Given the description of an element on the screen output the (x, y) to click on. 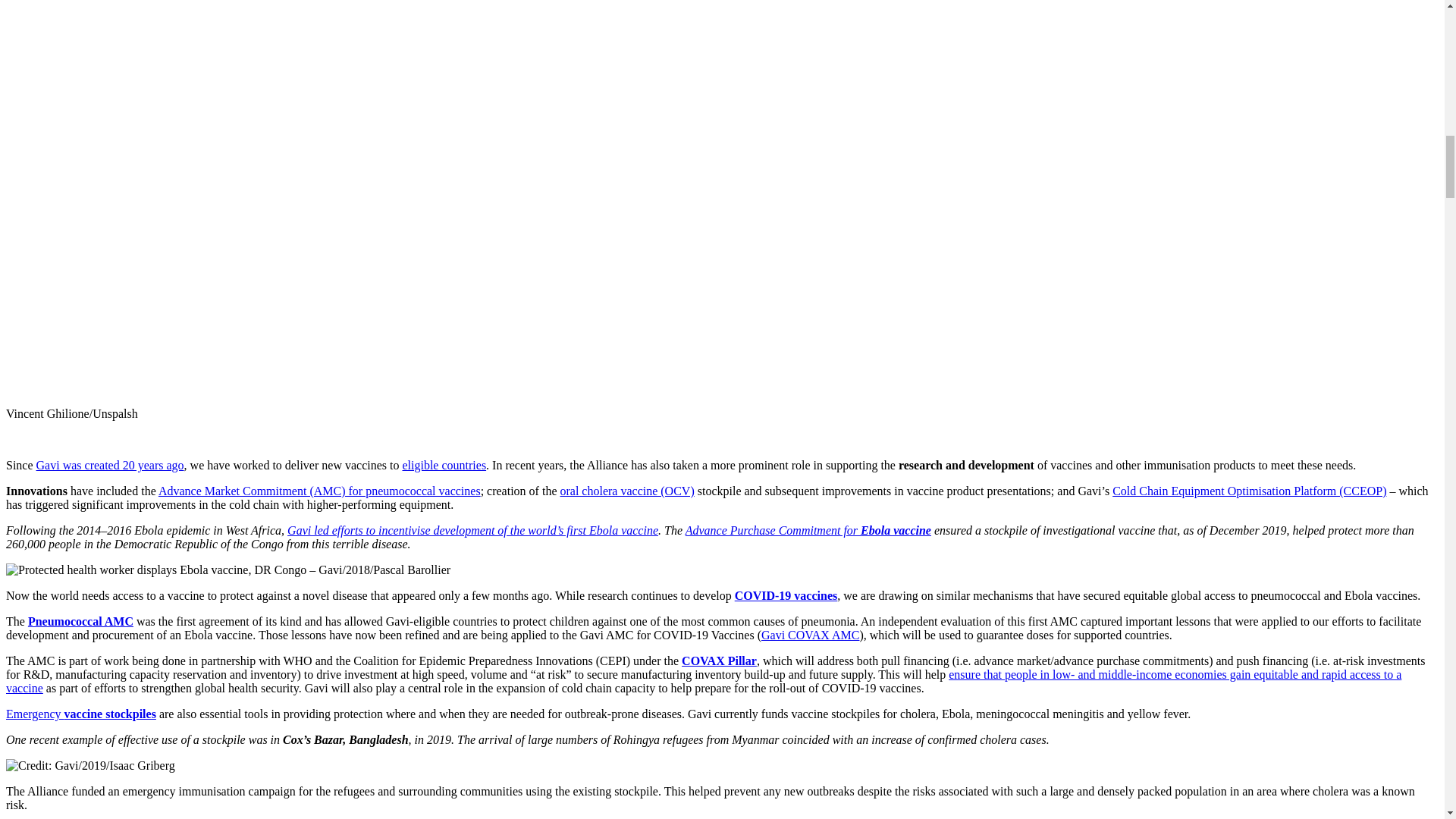
The COVID-19 vaccine race (786, 594)
eligible countries (443, 464)
The Gavi COVAX AMC Explained (810, 634)
Gavi was created 20 years ago (110, 464)
Country hub (443, 464)
The race to develop an Ebola vaccine (472, 530)
